Given the description of an element on the screen output the (x, y) to click on. 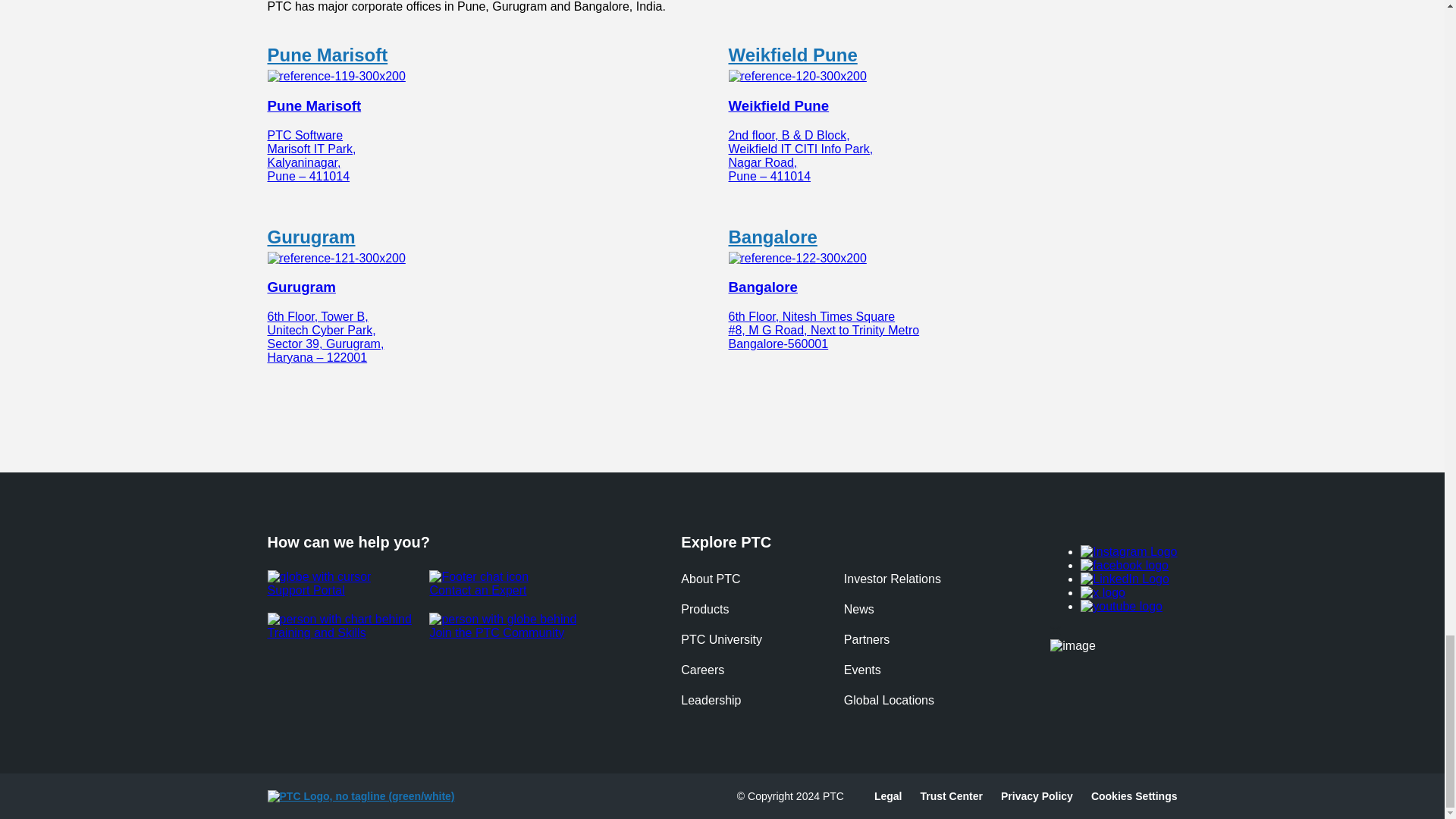
Trust Center (950, 795)
Events (862, 671)
Cookies Setting (1133, 795)
Careers (702, 671)
Gurugram (310, 236)
PTC University (721, 640)
PTC University (721, 640)
Investor Relations (892, 580)
Partners (866, 640)
Leadership (711, 701)
